Given the description of an element on the screen output the (x, y) to click on. 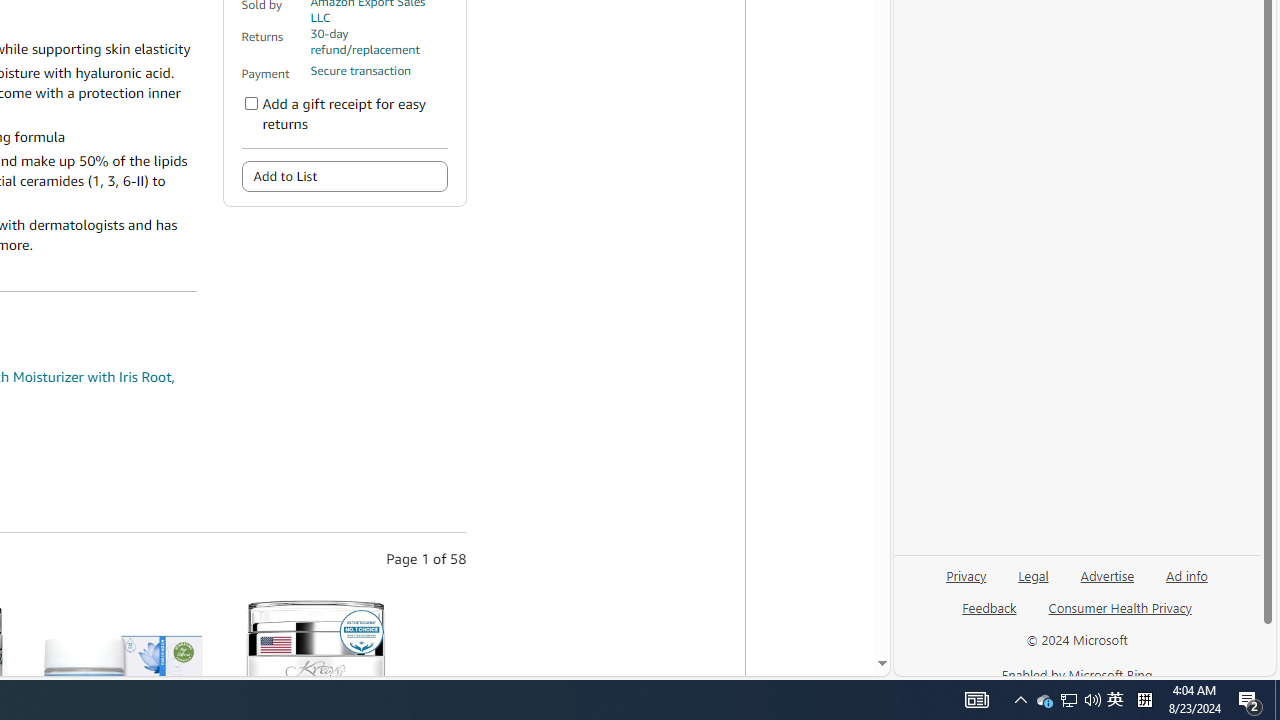
Add a gift receipt for easy returns (251, 103)
Ad info (1187, 574)
Feedback (988, 615)
Feedback (989, 607)
30-day refund/replacement (378, 41)
Consumer Health Privacy (1119, 615)
Add to List (343, 176)
Privacy (965, 574)
Legal (1033, 583)
Ad info (1186, 583)
Privacy (966, 583)
Legal (1033, 574)
Advertise (1107, 574)
Advertise (1106, 583)
Secure transaction (360, 71)
